Given the description of an element on the screen output the (x, y) to click on. 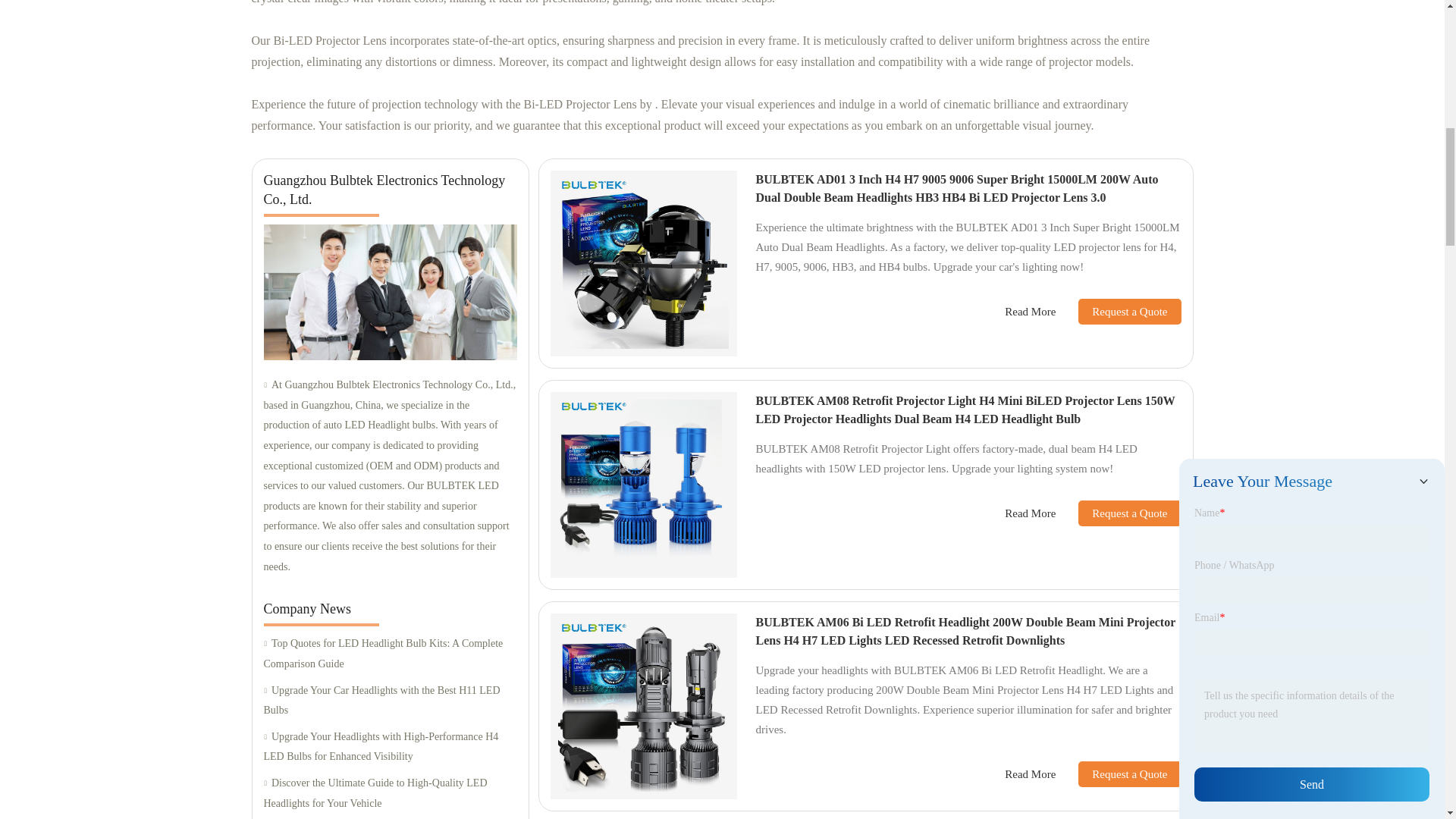
Read More (1029, 312)
Request a Quote (1117, 311)
Request a Quote (1117, 513)
Read More (1029, 513)
Upgrade Your Car Headlights with the Best H11 LED Bulbs (389, 700)
